Given the description of an element on the screen output the (x, y) to click on. 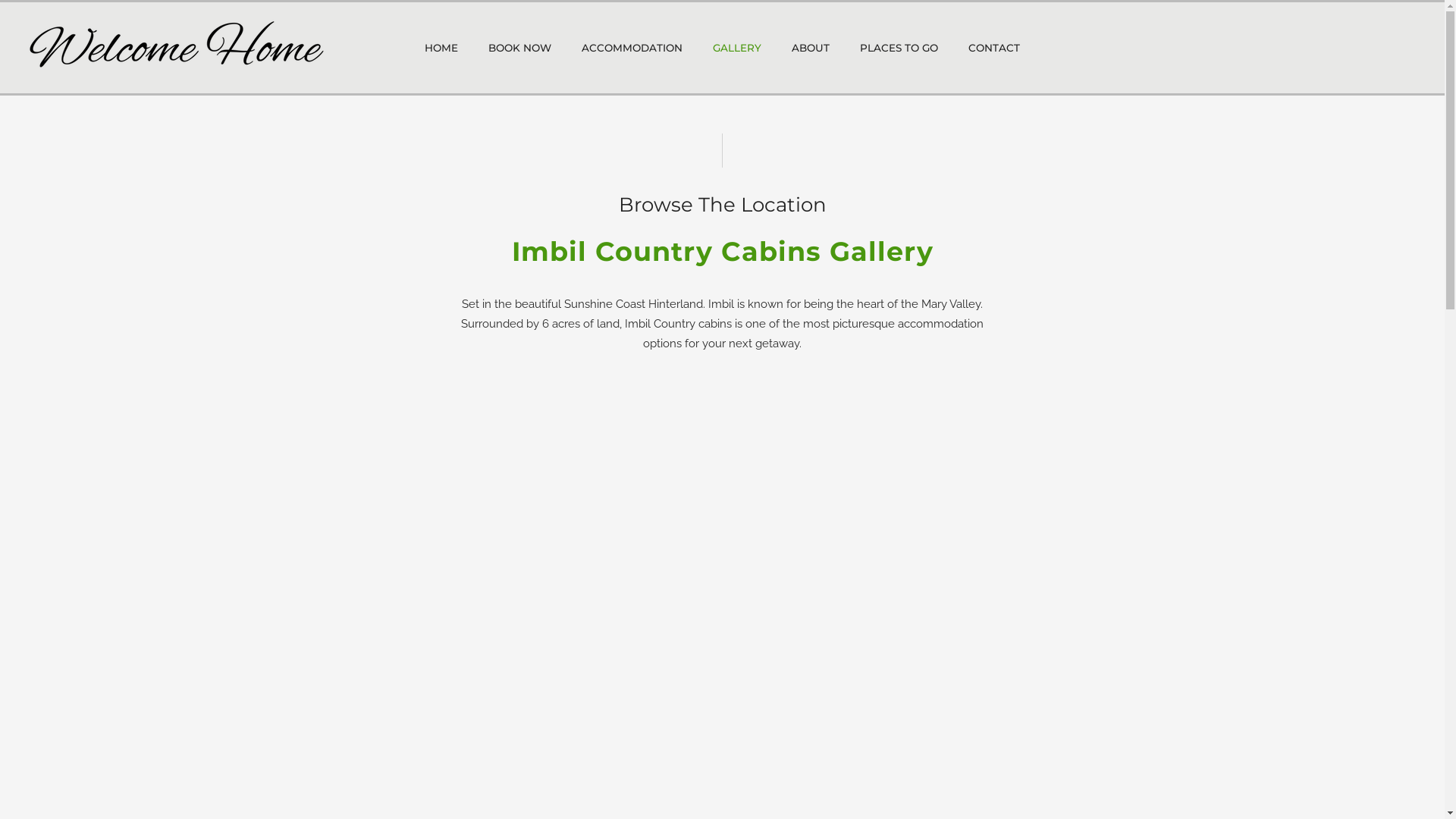
ACCOMMODATION Element type: text (631, 47)
GALLERY Element type: text (736, 47)
PLACES TO GO Element type: text (898, 47)
HOME Element type: text (441, 47)
ABOUT Element type: text (810, 47)
CONTACT Element type: text (994, 47)
BOOK NOW Element type: text (519, 47)
